Given the description of an element on the screen output the (x, y) to click on. 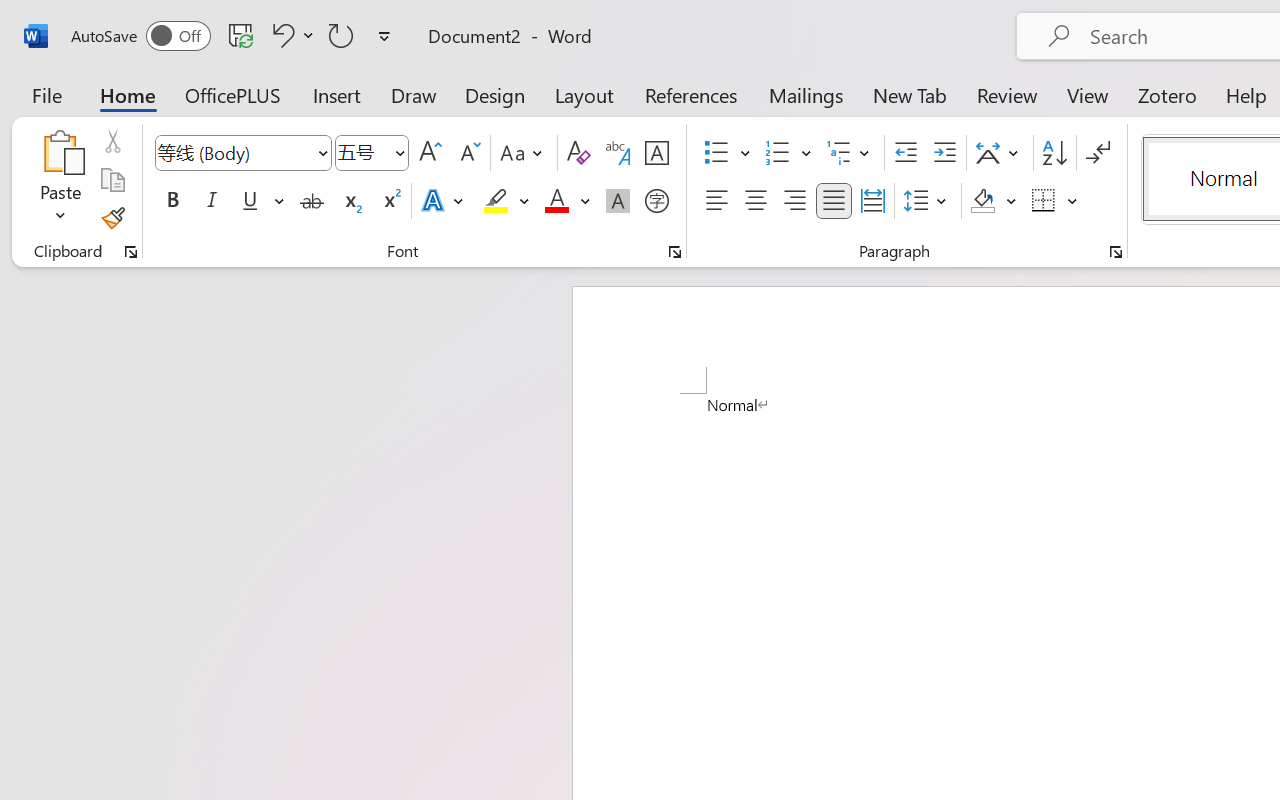
OfficePLUS (233, 94)
Undo Apply Quick Style (280, 35)
More Options (1073, 201)
Shrink Font (468, 153)
AutoSave (140, 35)
Grow Font (430, 153)
Increase Indent (944, 153)
Font Size (372, 153)
Home (127, 94)
Align Left (716, 201)
Borders (1055, 201)
Layout (584, 94)
Office Clipboard... (131, 252)
Character Border (656, 153)
References (690, 94)
